Given the description of an element on the screen output the (x, y) to click on. 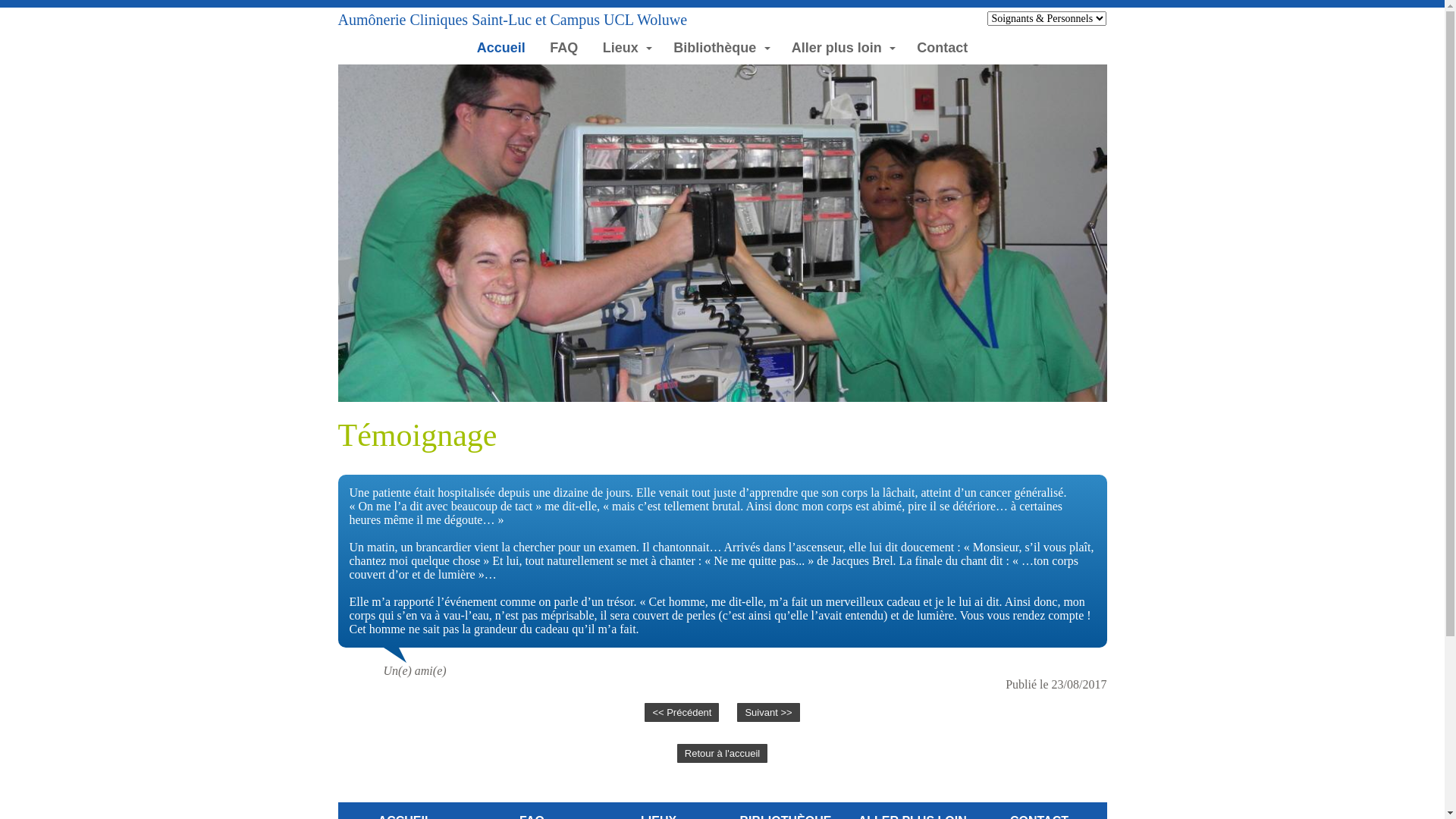
FAQ Element type: text (563, 47)
Aller plus loin Element type: text (842, 47)
Suivant >> Element type: text (768, 711)
Accueil Element type: text (500, 47)
Lieux Element type: text (626, 47)
Contact Element type: text (942, 47)
